Given the description of an element on the screen output the (x, y) to click on. 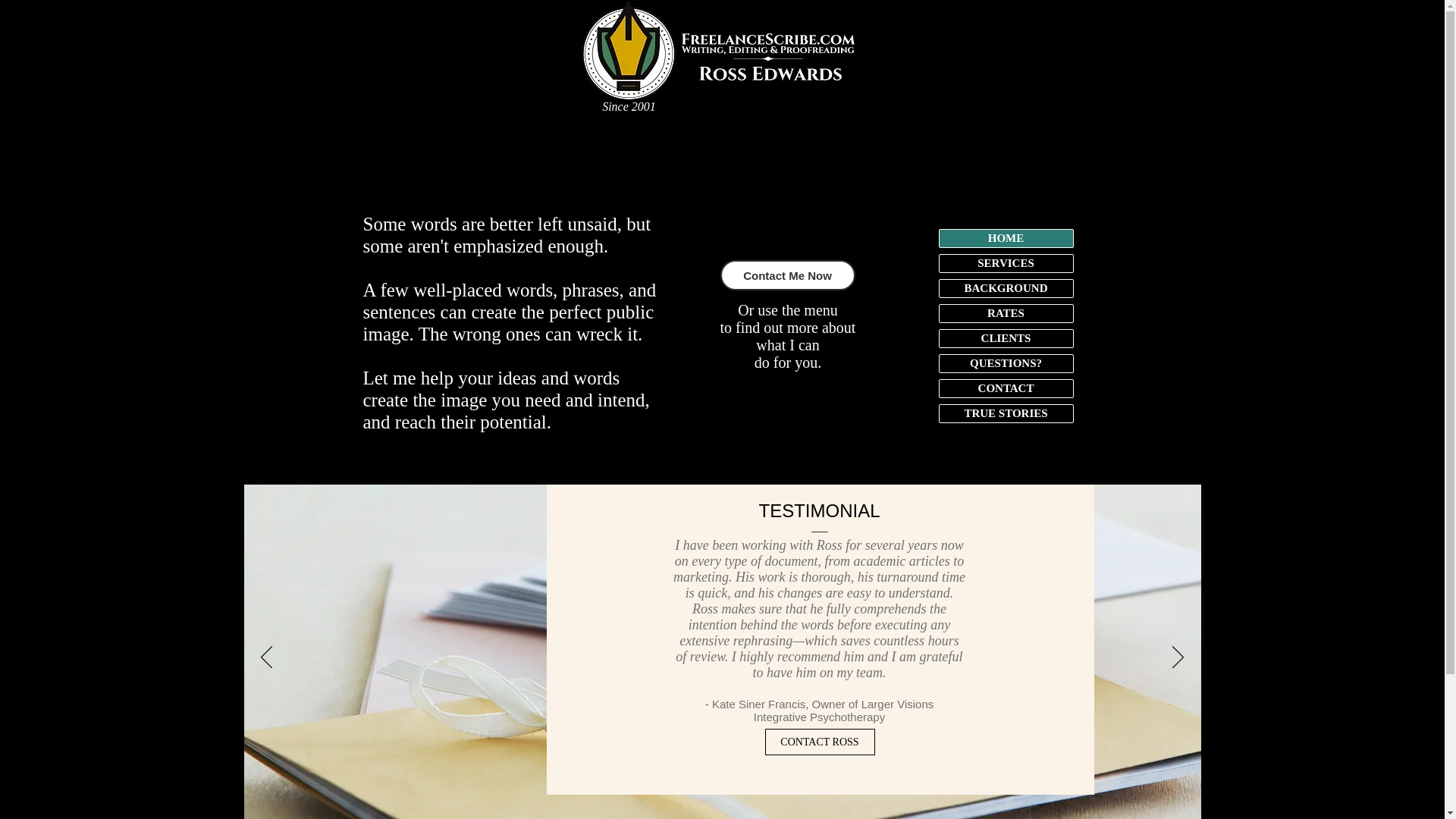
Contact Me Now (788, 275)
TRUE STORIES (1005, 413)
BACKGROUND (1005, 288)
CONTACT (1005, 388)
HOME (1005, 238)
RATES (1005, 313)
CONTACT ROSS (819, 741)
QUESTIONS? (1005, 363)
CLIENTS (1005, 338)
SERVICES (1005, 262)
